Given the description of an element on the screen output the (x, y) to click on. 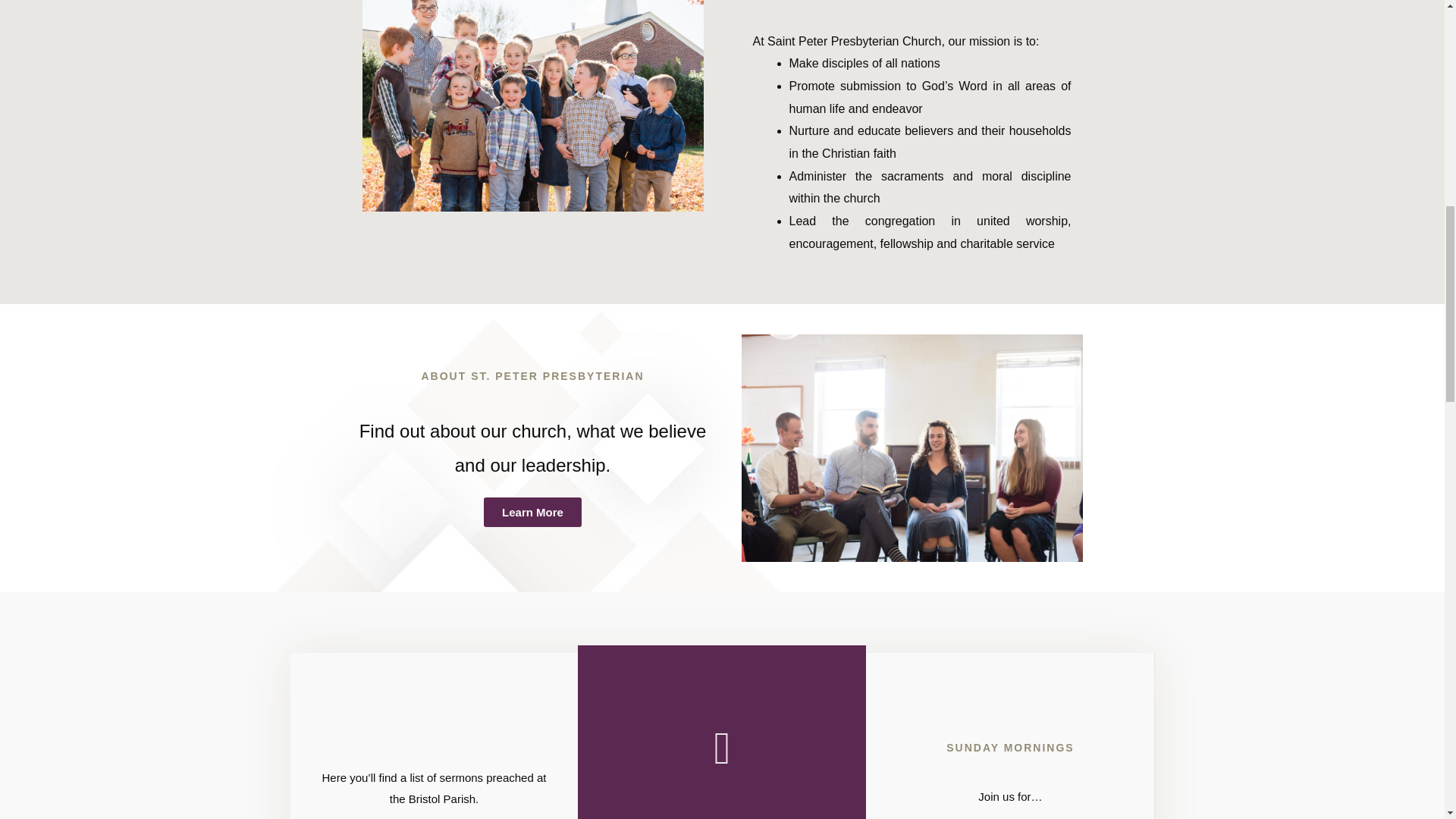
Learn More (531, 512)
st-peter-presbyterian-church-bristol21 (912, 447)
